Given the description of an element on the screen output the (x, y) to click on. 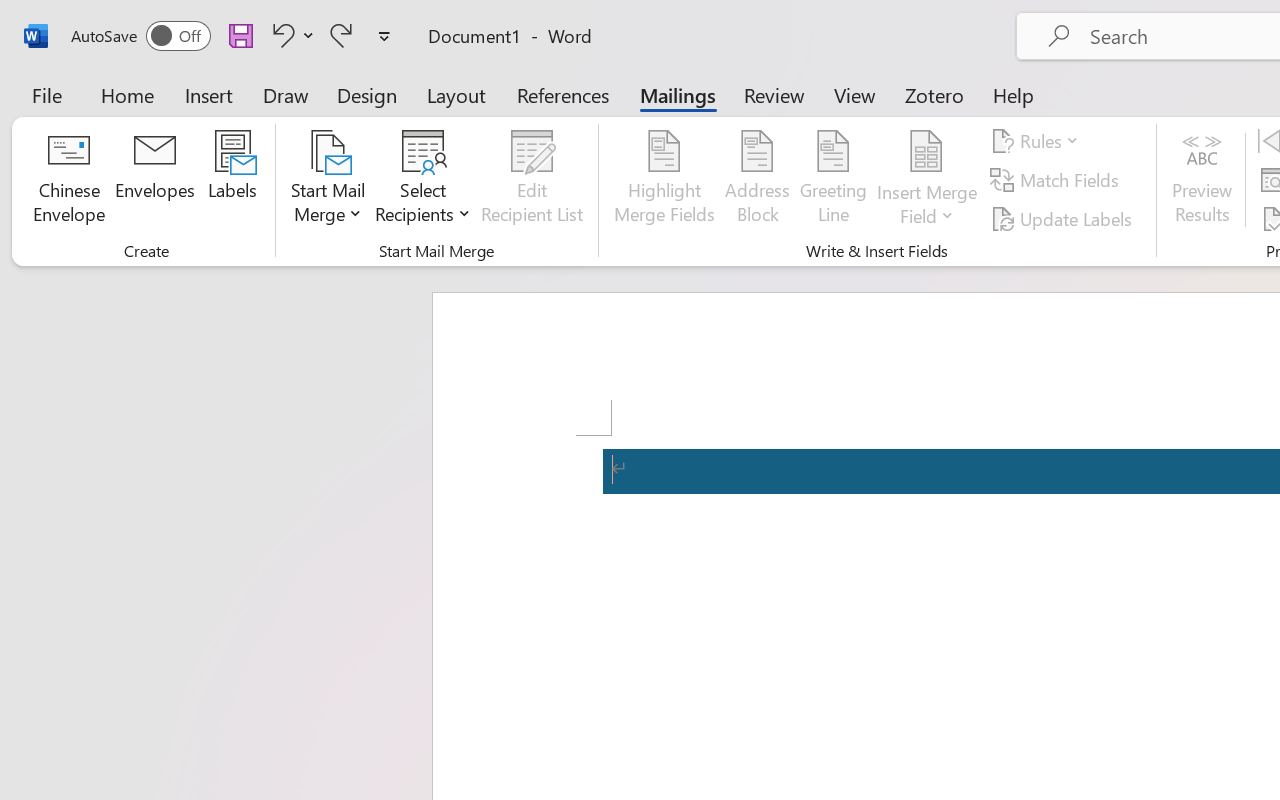
Start Mail Merge (328, 179)
Highlight Merge Fields (664, 179)
Edit Recipient List... (532, 179)
Labels... (232, 179)
Undo Apply Quick Style Set (280, 35)
Match Fields... (1057, 179)
Address Block... (757, 179)
